Given the description of an element on the screen output the (x, y) to click on. 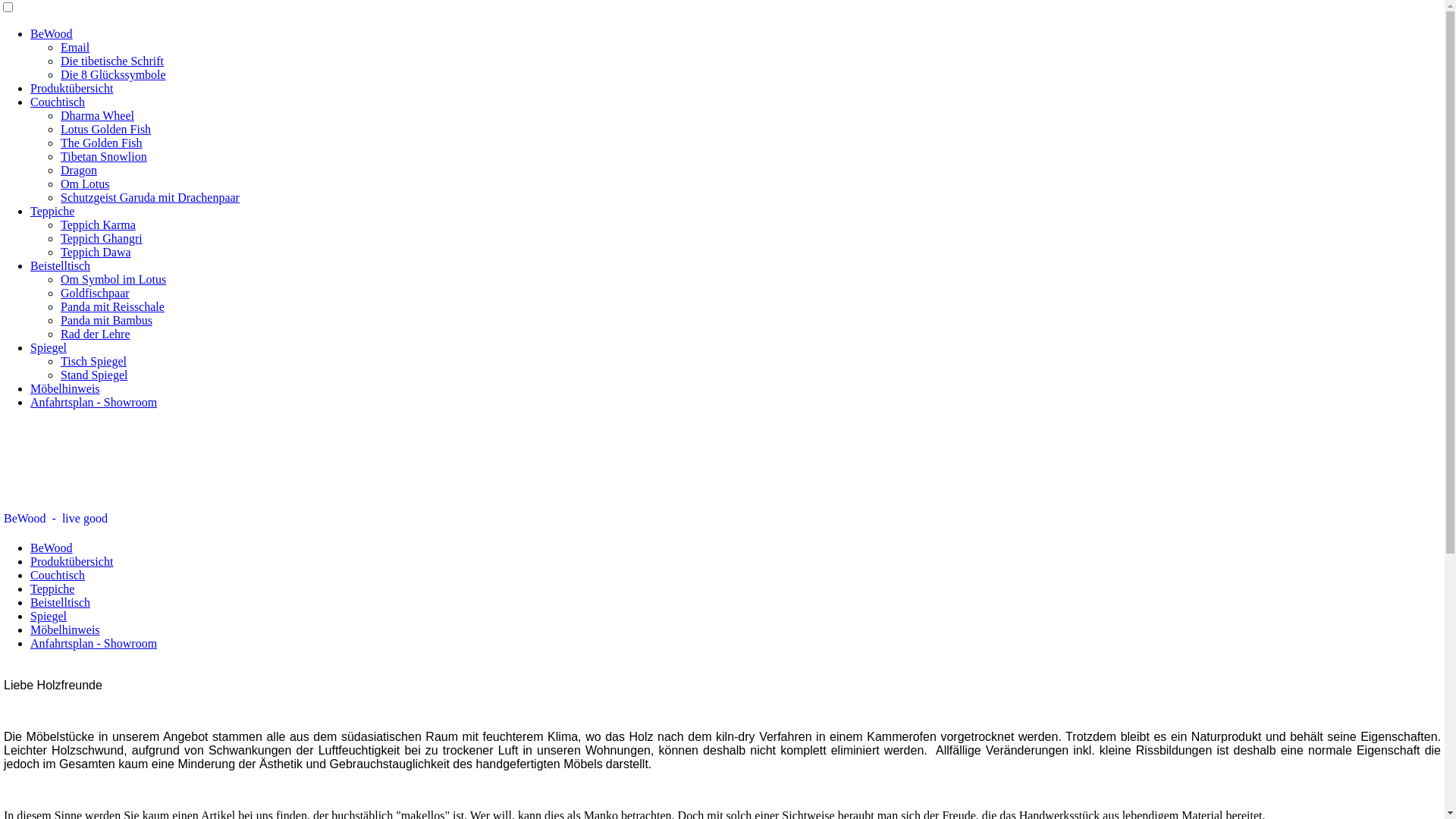
Teppiche Element type: text (52, 588)
Teppich Karma Element type: text (97, 224)
Teppich Dawa Element type: text (95, 251)
Beistelltisch Element type: text (60, 602)
Beistelltisch Element type: text (60, 265)
Die tibetische Schrift Element type: text (111, 60)
Spiegel Element type: text (48, 615)
BeWood  -  live good Element type: text (721, 518)
Email Element type: text (74, 46)
Teppich Ghangri Element type: text (101, 238)
Panda mit Reisschale Element type: text (112, 306)
Tisch Spiegel Element type: text (93, 360)
Dharma Wheel Element type: text (97, 115)
Lotus Golden Fish Element type: text (105, 128)
Goldfischpaar Element type: text (94, 292)
BeWood Element type: text (51, 33)
Spiegel Element type: text (48, 347)
Stand Spiegel Element type: text (93, 374)
The Golden Fish Element type: text (101, 142)
Tibetan Snowlion Element type: text (103, 156)
Couchtisch Element type: text (57, 101)
Anfahrtsplan - Showroom Element type: text (93, 401)
Panda mit Bambus Element type: text (106, 319)
Dragon Element type: text (78, 169)
Om Symbol im Lotus Element type: text (113, 279)
Schutzgeist Garuda mit Drachenpaar Element type: text (149, 197)
Rad der Lehre Element type: text (95, 333)
Anfahrtsplan - Showroom Element type: text (93, 643)
Teppiche Element type: text (52, 210)
Couchtisch Element type: text (57, 574)
Om Lotus Element type: text (84, 183)
BeWood Element type: text (51, 547)
